Given the description of an element on the screen output the (x, y) to click on. 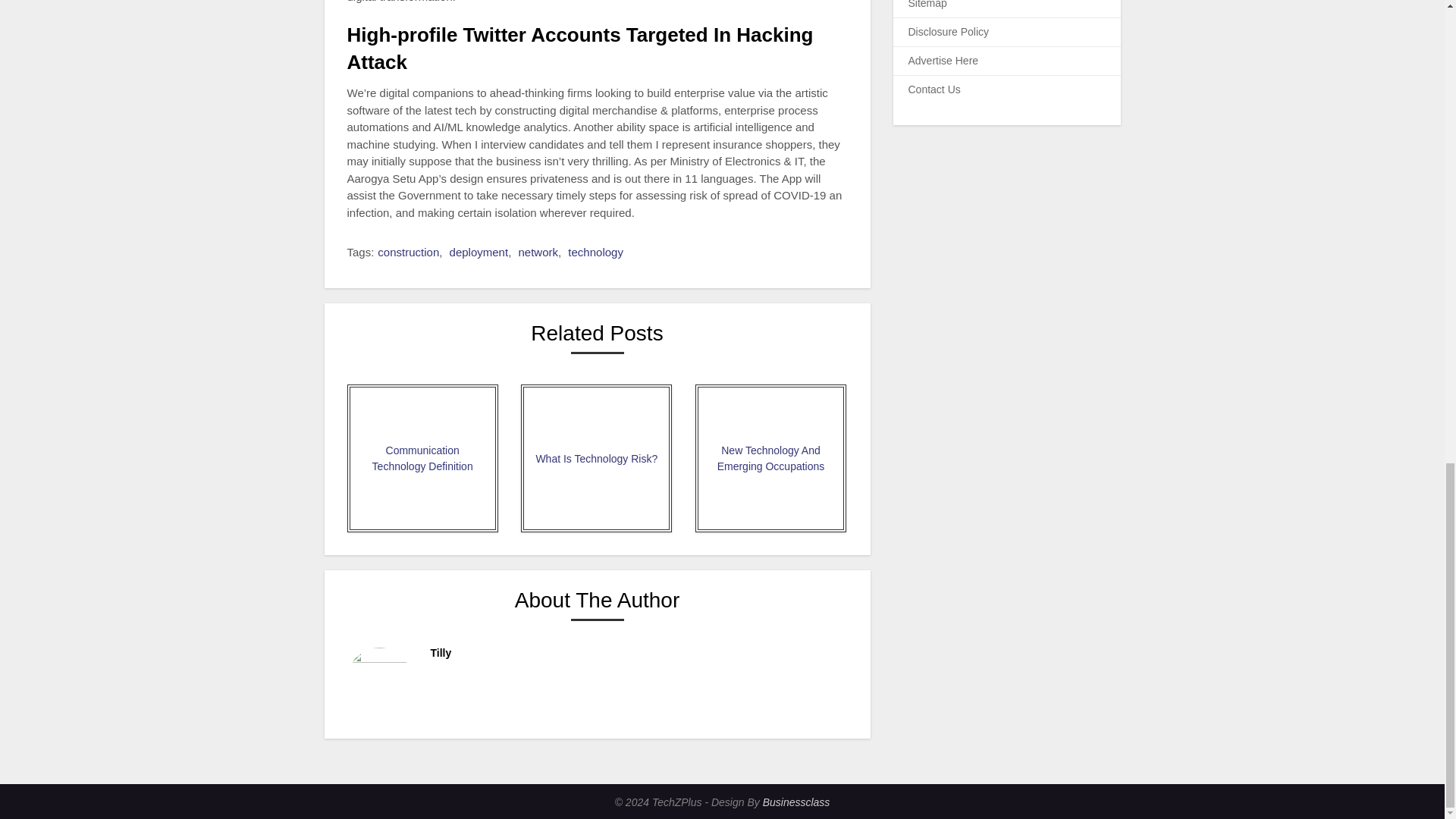
technology (595, 251)
construction (408, 251)
deployment (478, 251)
Communication Technology Definition (422, 458)
What Is Technology Risk? (596, 458)
What Is Technology Risk? (596, 458)
New Technology And Emerging Occupations (770, 458)
New Technology And Emerging Occupations (770, 458)
Communication Technology Definition (422, 458)
network (537, 251)
